Given the description of an element on the screen output the (x, y) to click on. 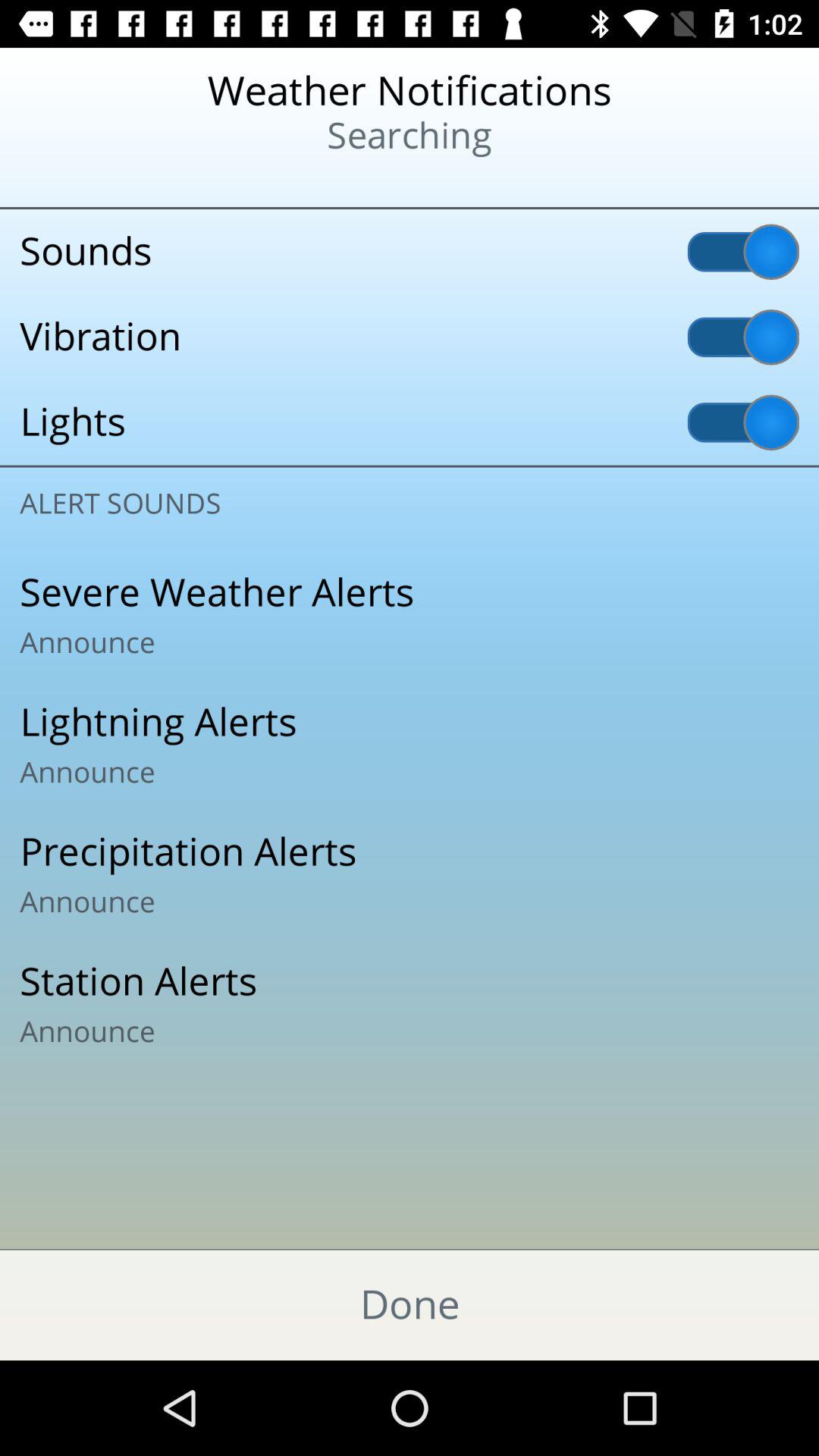
press vibration (409, 336)
